Given the description of an element on the screen output the (x, y) to click on. 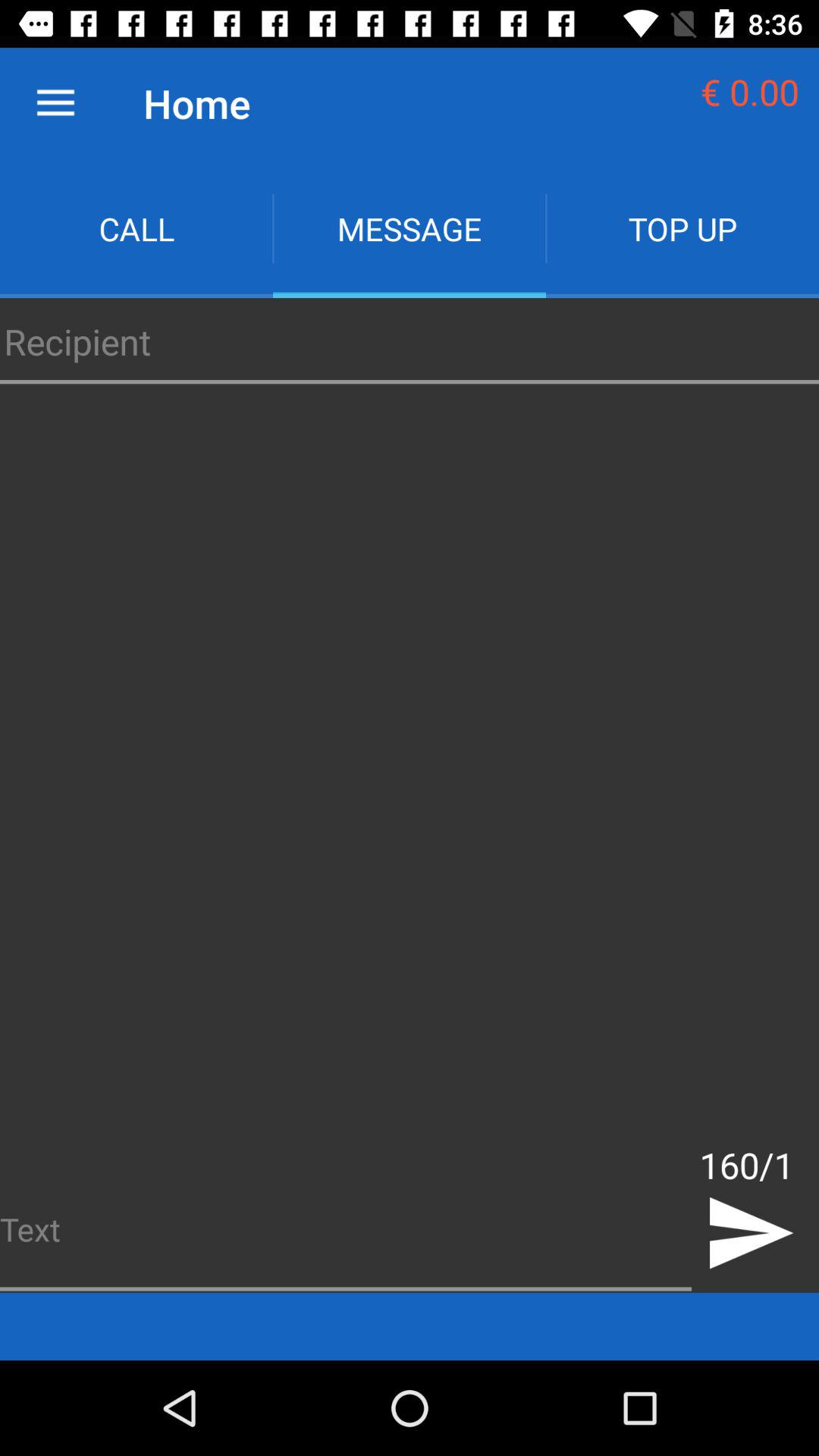
turn on icon above call icon (55, 103)
